Given the description of an element on the screen output the (x, y) to click on. 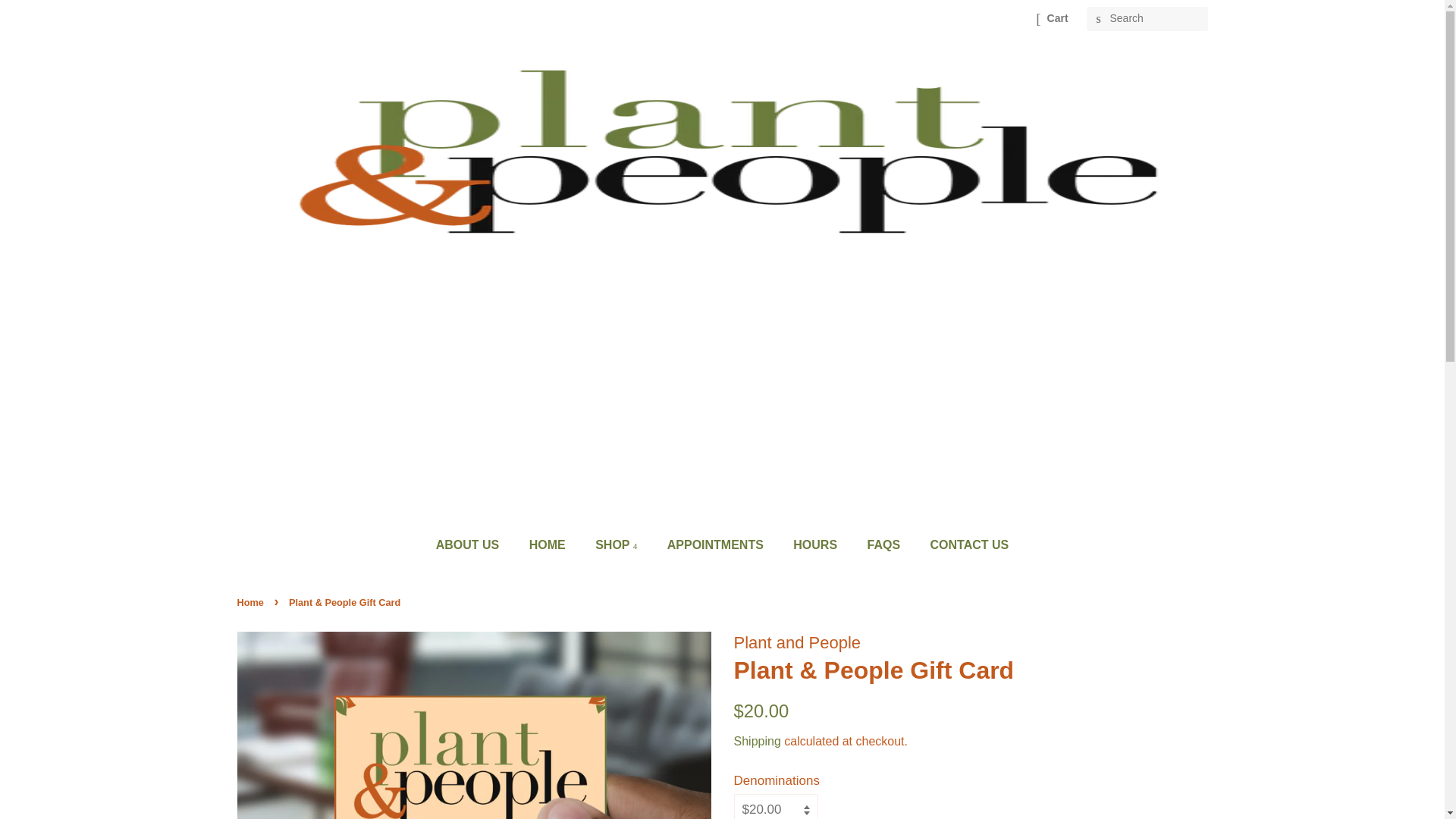
ABOUT US (475, 544)
HOME (549, 544)
SEARCH (1097, 18)
SHOP (617, 544)
Back to the frontpage (250, 602)
Cart (1057, 18)
